Given the description of an element on the screen output the (x, y) to click on. 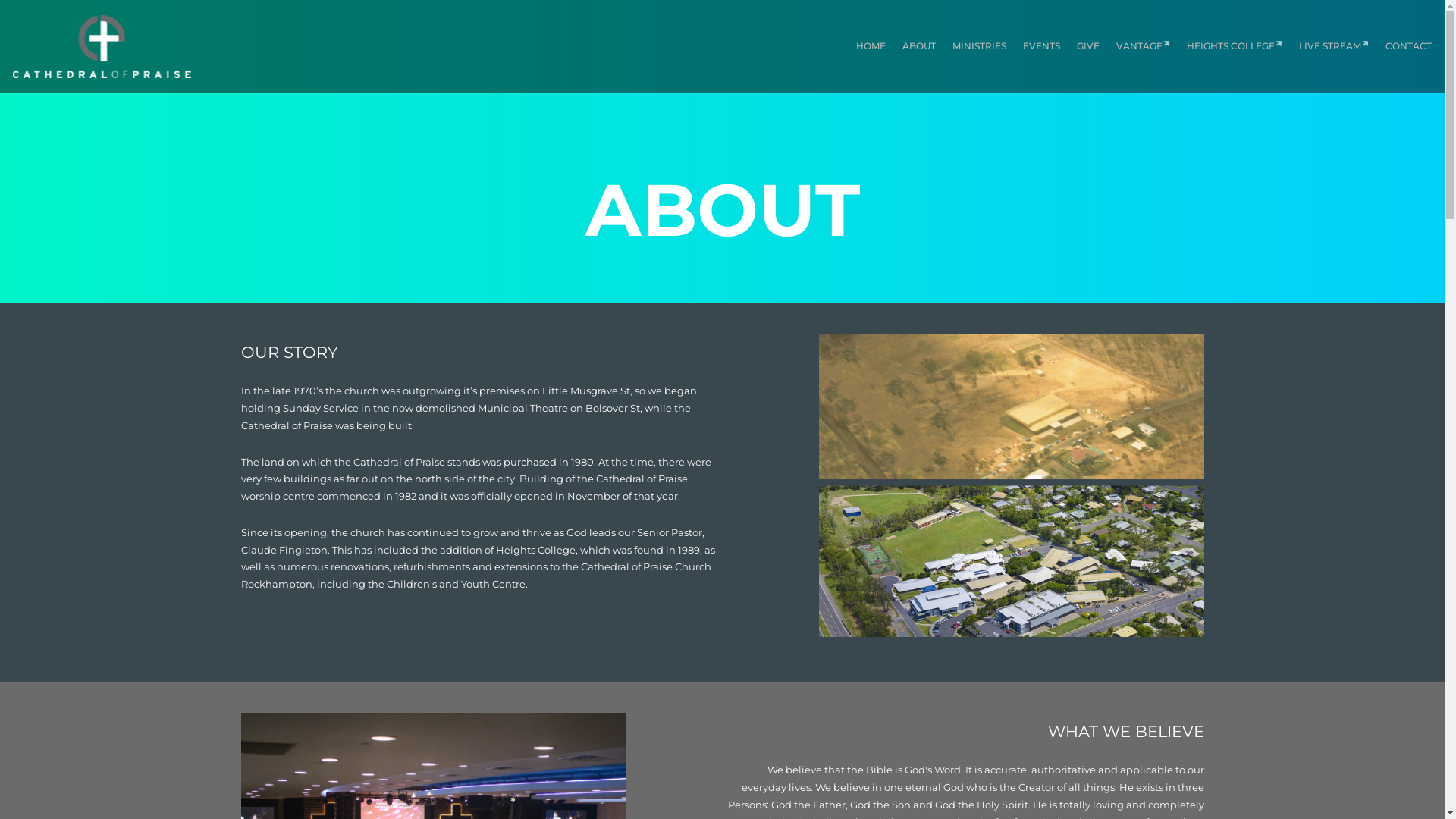
HEIGHTS COLLEGE Element type: text (1234, 45)
ABOUT Element type: text (918, 45)
HOME Element type: text (870, 45)
EVENTS Element type: text (1041, 45)
LIVE STREAM Element type: text (1333, 45)
MINISTRIES Element type: text (979, 45)
VANTAGE Element type: text (1143, 45)
CONTACT Element type: text (1408, 45)
GIVE Element type: text (1087, 45)
